Given the description of an element on the screen output the (x, y) to click on. 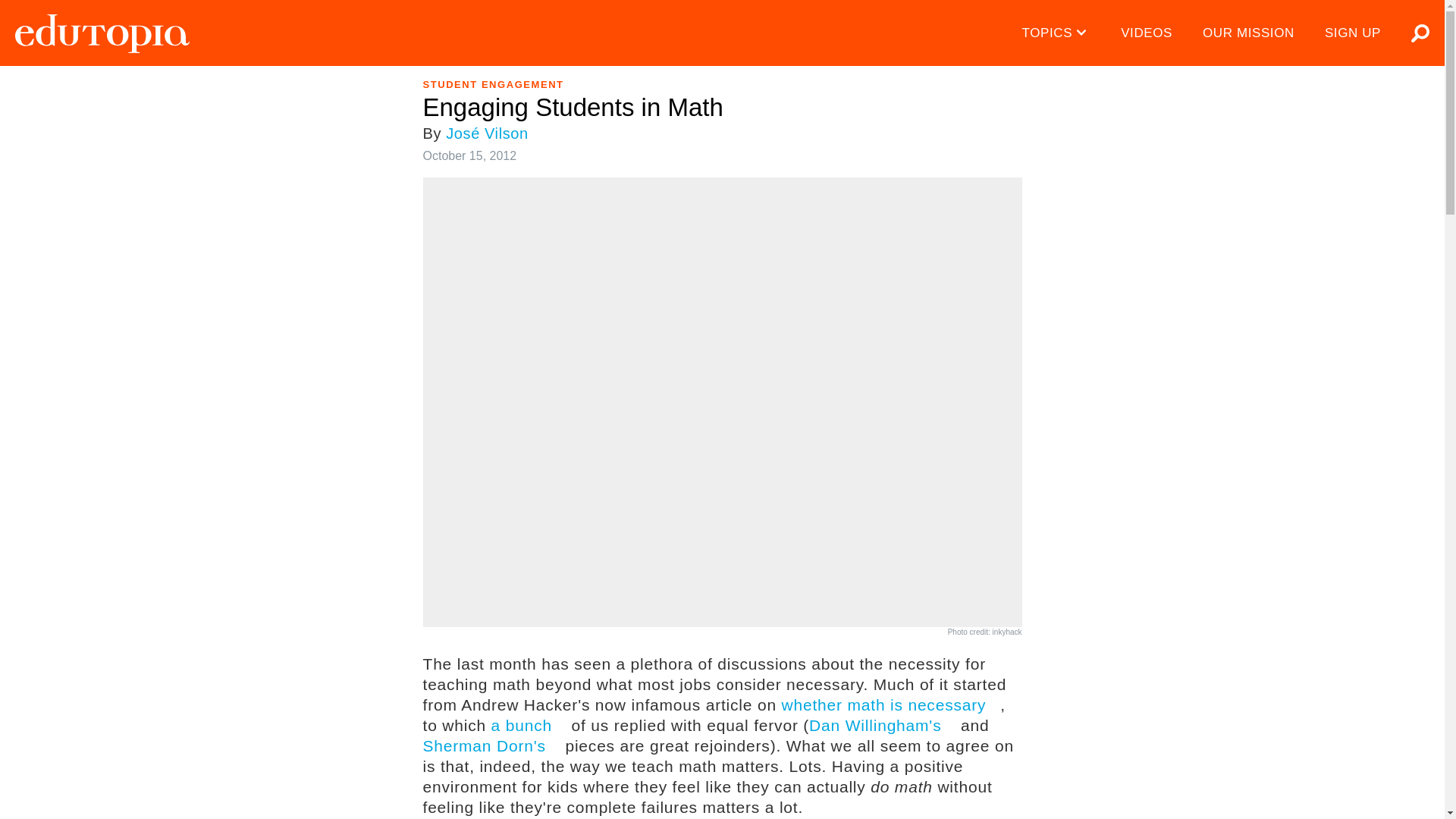
SIGN UP (1352, 33)
whether math is necessary (891, 704)
TOPICS (1056, 33)
VIDEOS (1146, 33)
OUR MISSION (1248, 33)
a bunch (529, 724)
Sherman Dorn's (491, 745)
Edutopia (101, 33)
Dan Willingham's (882, 724)
Edutopia (101, 33)
